Given the description of an element on the screen output the (x, y) to click on. 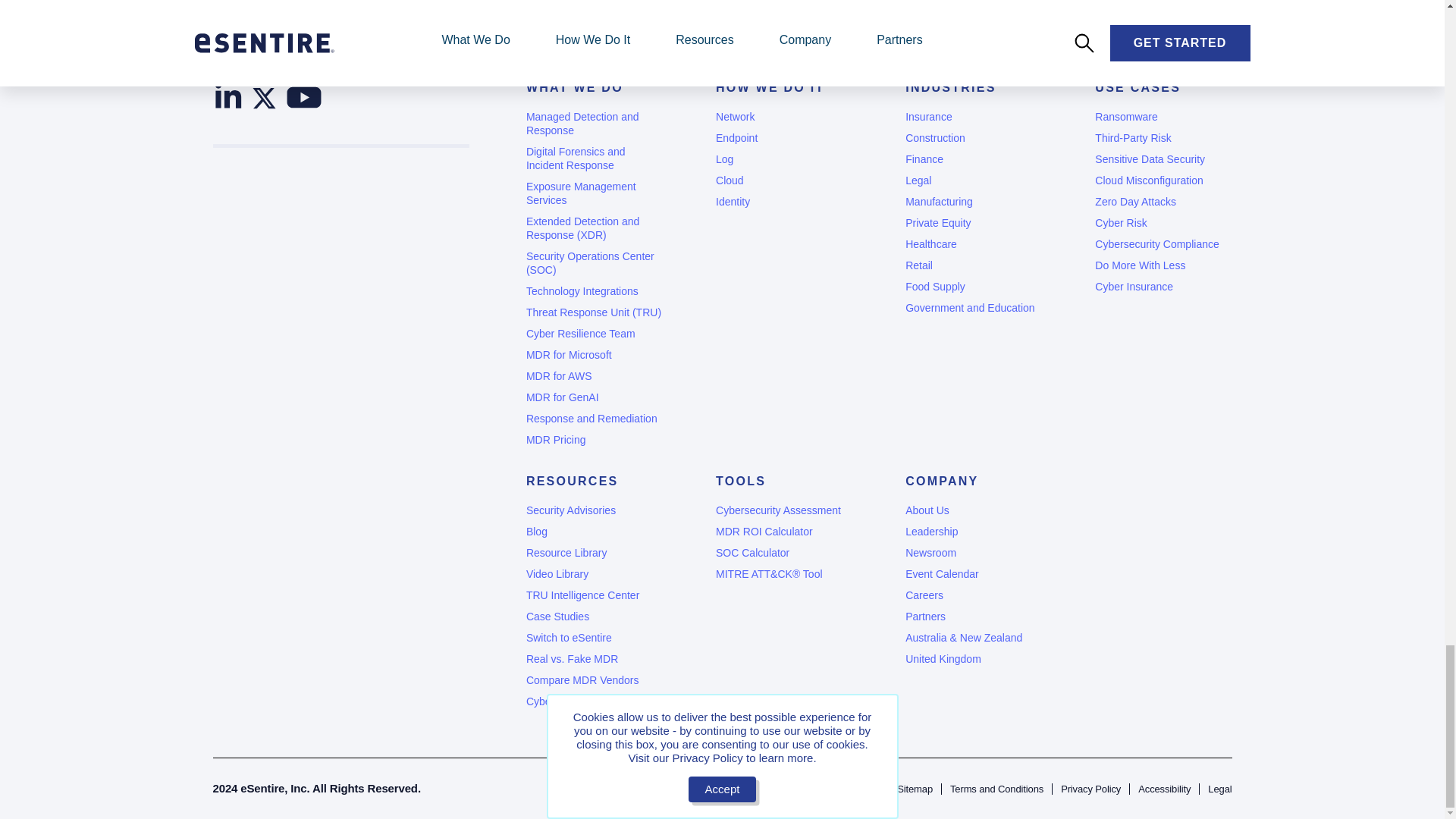
Digital Forensics and Incident Response (593, 157)
Endpoint (783, 137)
Managed Detection and Response (593, 123)
Identity (783, 201)
MDR for Microsoft (593, 354)
MDR Pricing (593, 439)
Response and Remediation (593, 418)
MDR for AWS (593, 376)
PARTNER LOGIN (649, 2)
Network (783, 116)
Cyber Resilience Team (593, 333)
MDR for GenAI (593, 397)
Exposure Management Services (593, 193)
Cloud (783, 180)
Technology Integrations (593, 291)
